Given the description of an element on the screen output the (x, y) to click on. 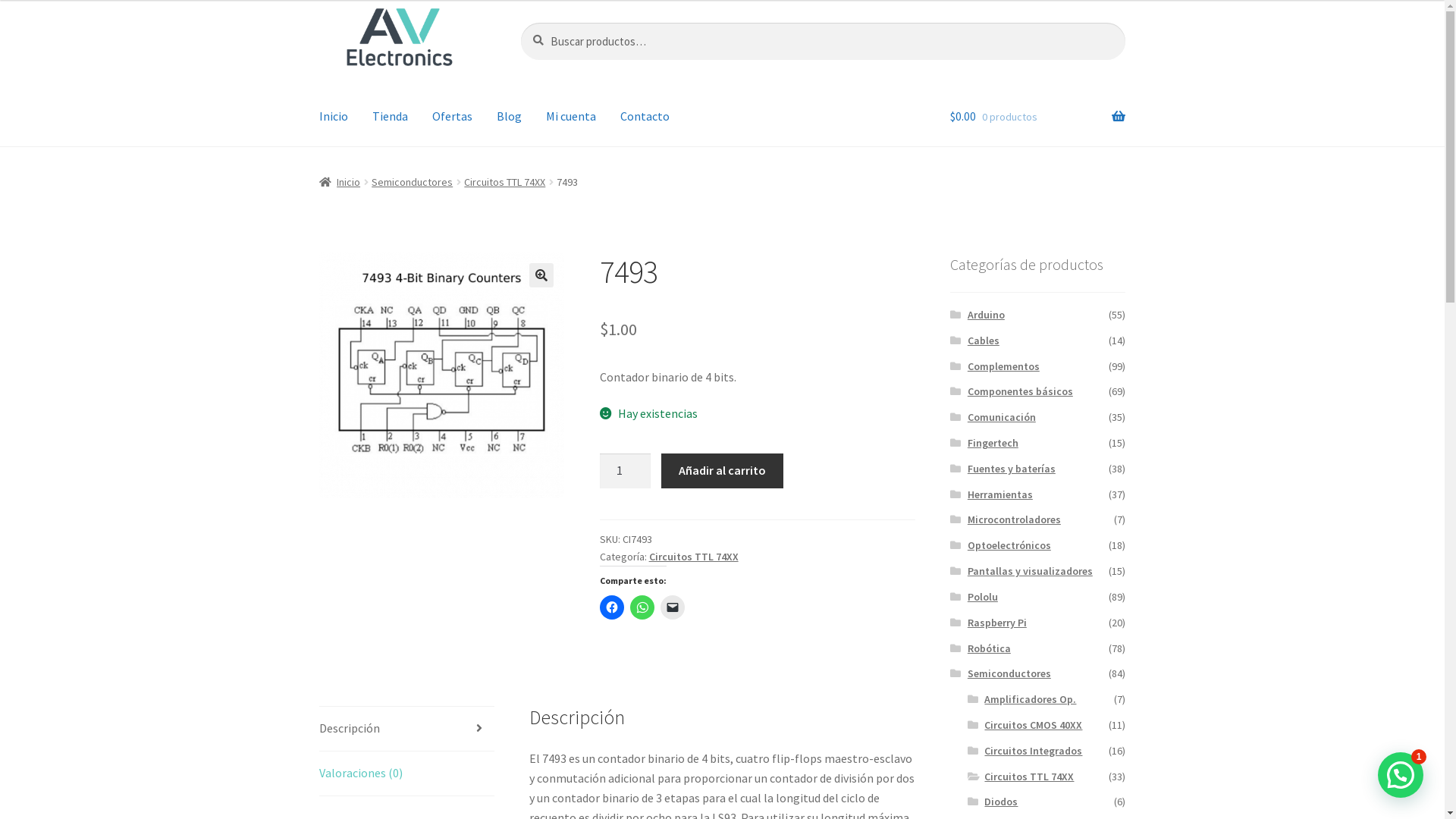
Circuitos TTL 74XX Element type: text (504, 181)
Raspberry Pi Element type: text (996, 622)
Complementos Element type: text (1003, 366)
Ofertas Element type: text (452, 116)
Blog Element type: text (508, 116)
$0.00 0 productos Element type: text (1037, 116)
Herramientas Element type: text (999, 494)
Buscar Element type: text (520, 21)
Cables Element type: text (983, 340)
Circuitos CMOS 40XX Element type: text (1033, 724)
Amplificadores Op. Element type: text (1030, 699)
Microcontroladores Element type: text (1013, 519)
Circuitos TTL 74XX Element type: text (1028, 776)
Inicio Element type: text (333, 116)
Arduino Element type: text (985, 314)
Inicio Element type: text (339, 181)
Circuitos Integrados Element type: text (1033, 750)
Diodos Element type: text (1000, 801)
Semiconductores Element type: text (1009, 673)
Circuitos TTL 74XX Element type: text (693, 556)
Semiconductores Element type: text (411, 181)
Contacto Element type: text (644, 116)
7493-1 Element type: hover (441, 375)
Fingertech Element type: text (992, 442)
Tienda Element type: text (390, 116)
Mi cuenta Element type: text (570, 116)
Pololu Element type: text (982, 596)
Pantallas y visualizadores Element type: text (1029, 570)
Valoraciones (0) Element type: text (406, 773)
